Given the description of an element on the screen output the (x, y) to click on. 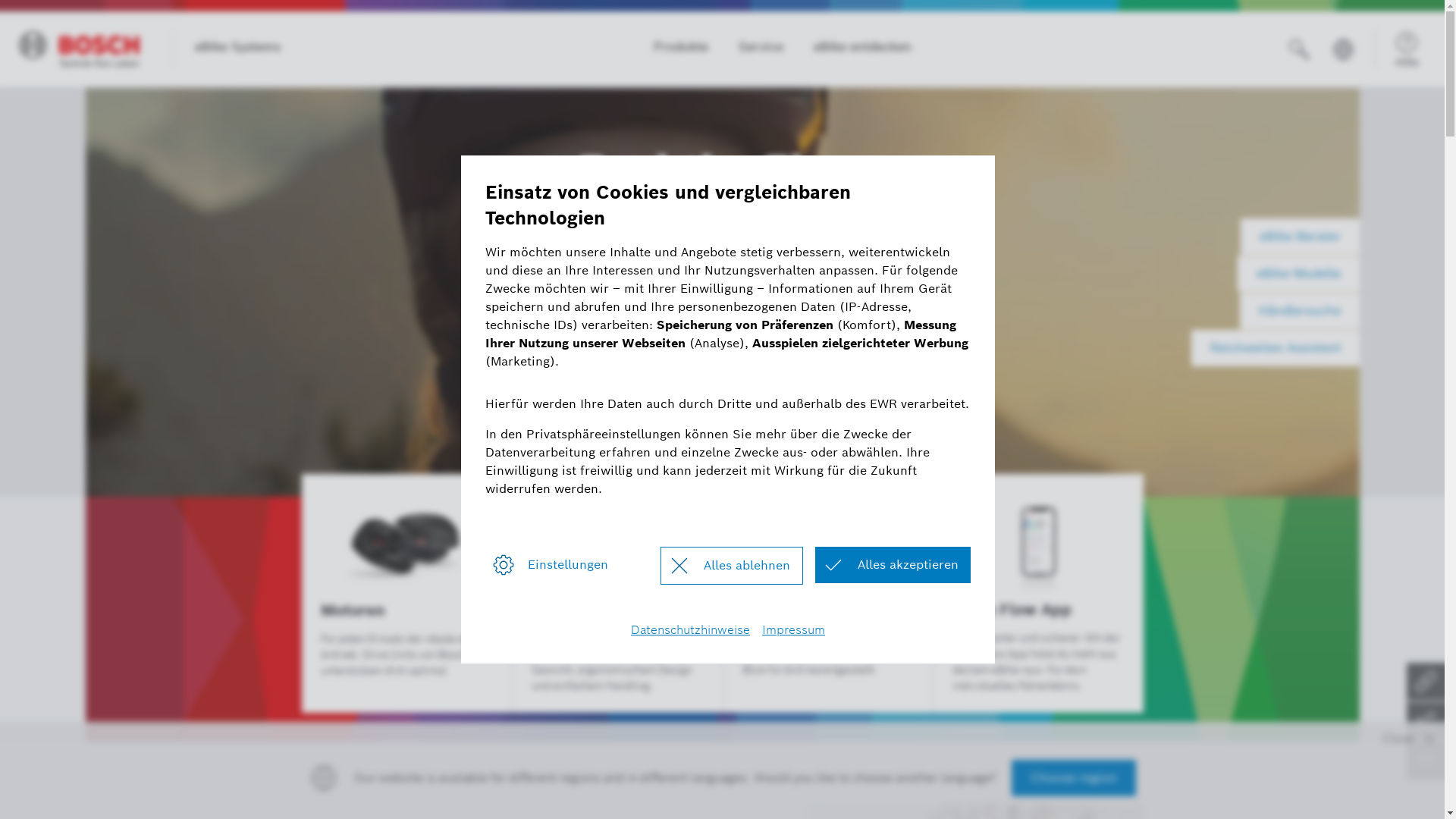
eBike-Berater Element type: text (1299, 236)
Choose region Element type: text (1073, 777)
eBike-Modelle Element type: text (1298, 272)
eBike Systems Element type: text (230, 47)
Change language Element type: hover (1342, 49)
Close Element type: text (1409, 738)
Reichweiten-Assistent Element type: text (1274, 347)
Hilfe Element type: text (1406, 49)
